Given the description of an element on the screen output the (x, y) to click on. 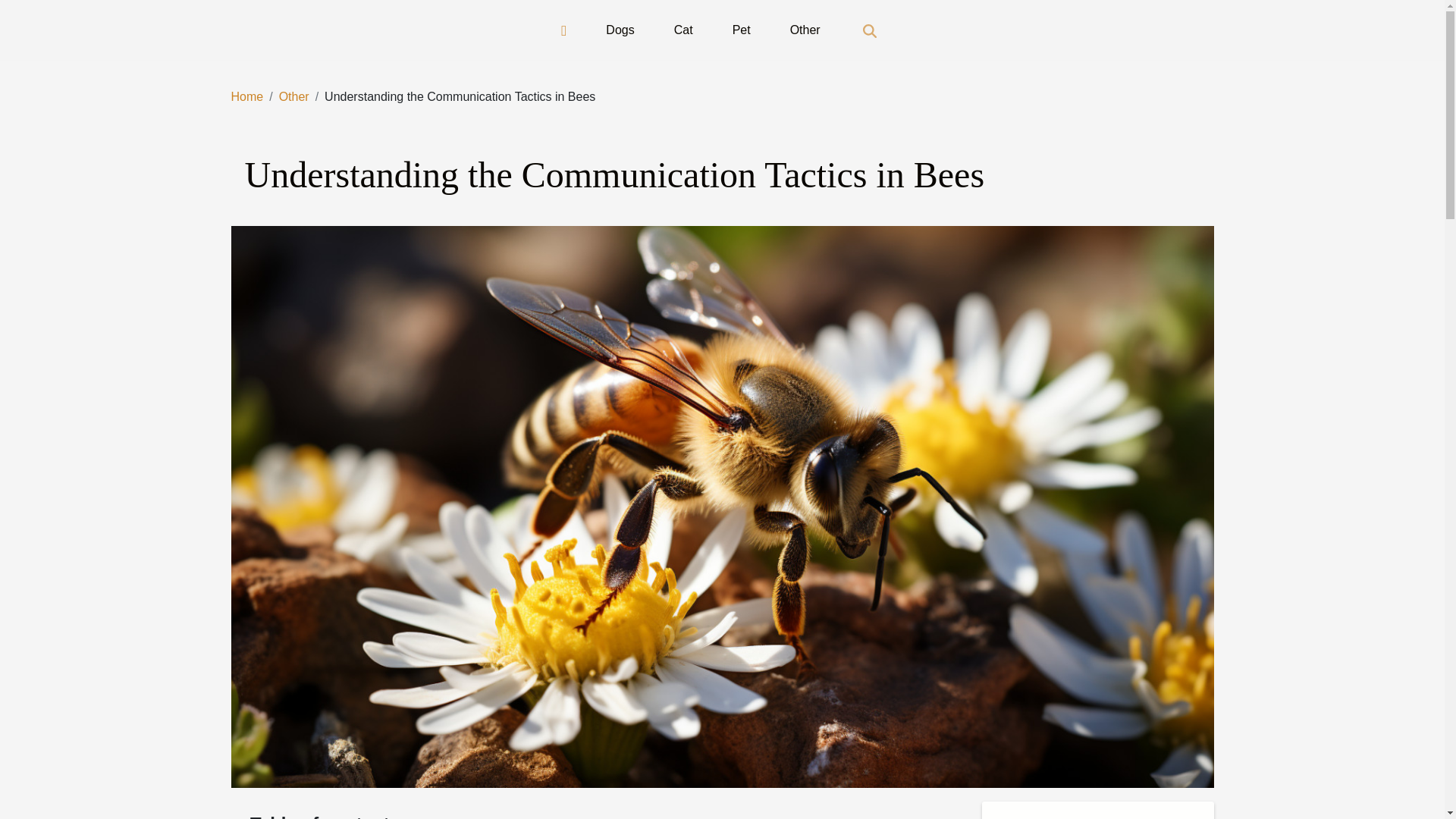
Other (805, 30)
Other (293, 96)
Cat (683, 30)
Other (293, 96)
Home (246, 96)
Dogs (619, 30)
Pet (741, 30)
